Given the description of an element on the screen output the (x, y) to click on. 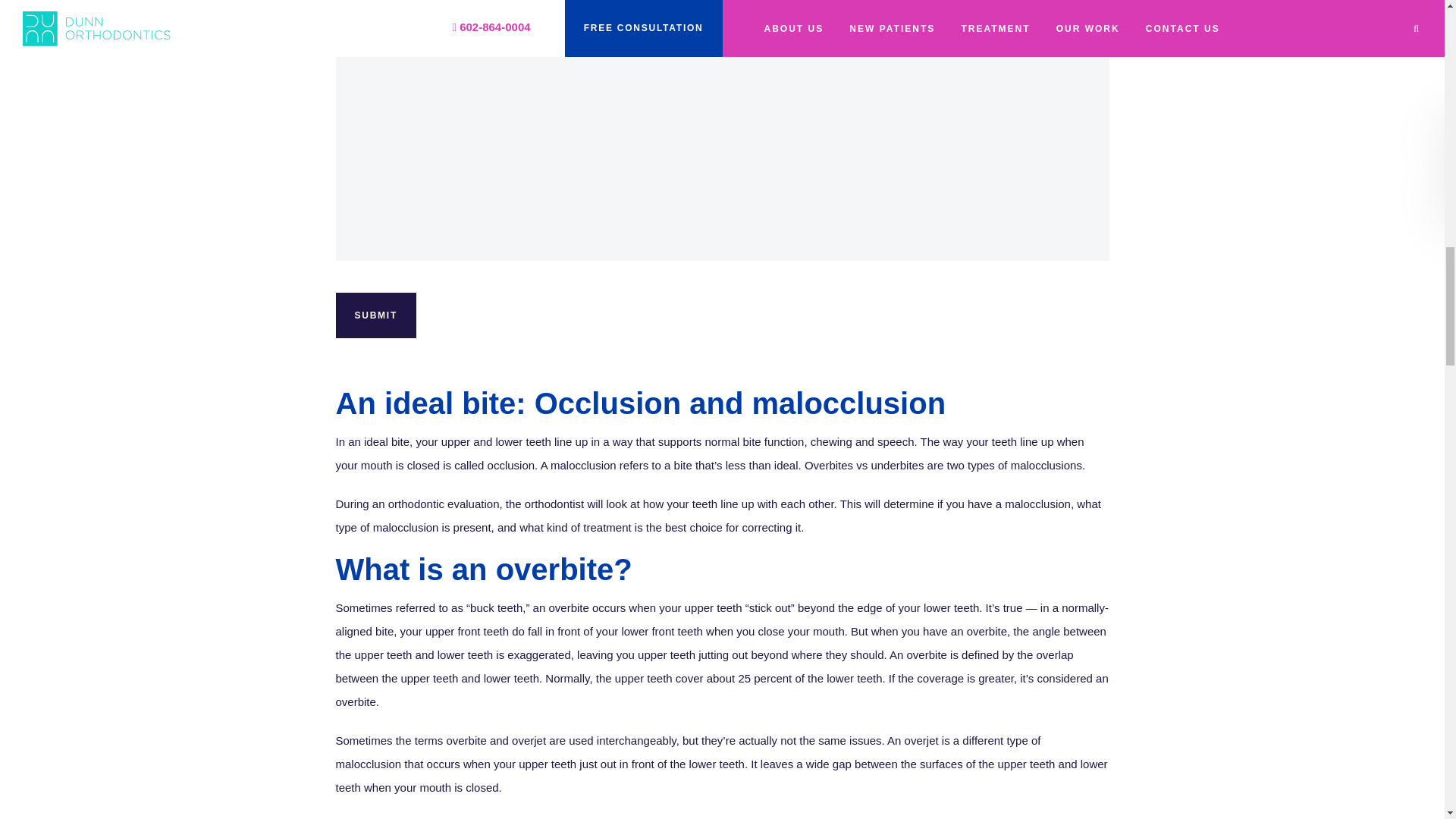
Submit (375, 315)
